Given the description of an element on the screen output the (x, y) to click on. 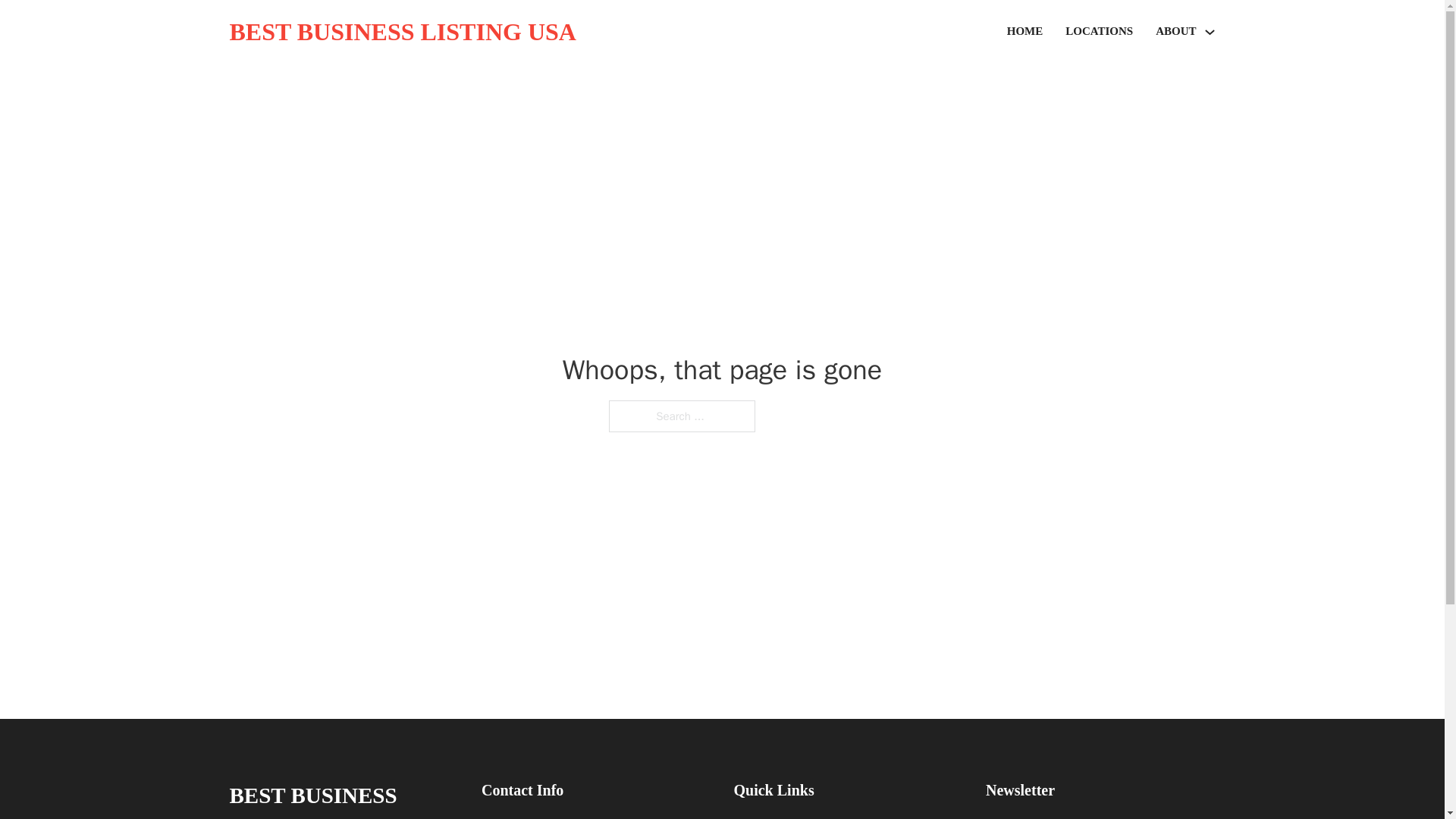
LOCATIONS (1098, 31)
BEST BUSINESS LISTING USA (343, 798)
HOME (1025, 31)
BEST BUSINESS LISTING USA (401, 31)
